Given the description of an element on the screen output the (x, y) to click on. 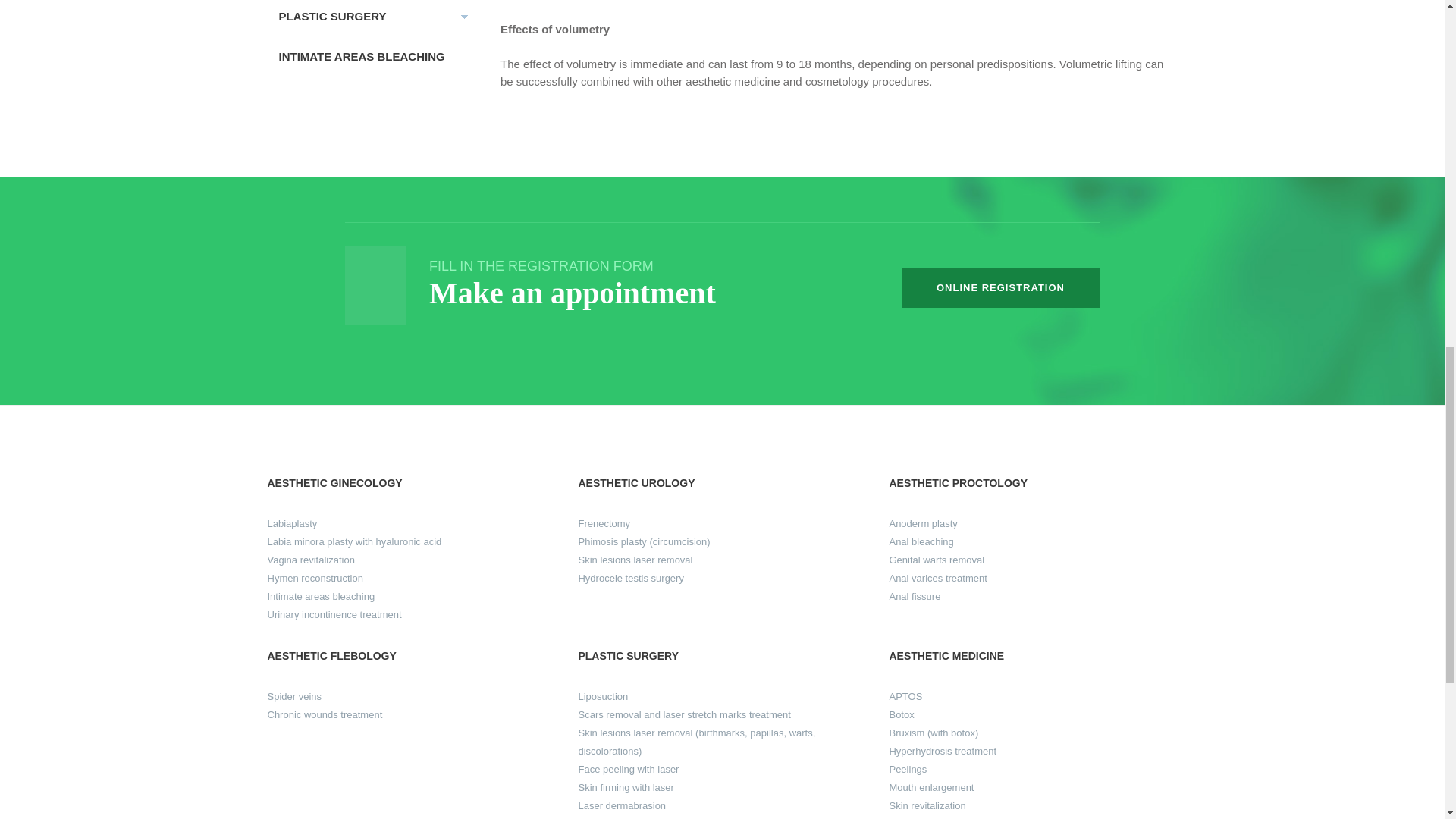
Online registration (1000, 287)
Anoderm plasty (922, 523)
Anal varices treatment (937, 577)
Genital warts removal (936, 559)
Frenectomy (604, 523)
Vagina revitalization (309, 559)
Labiaplasty (291, 523)
Urinary incontinence treatment (333, 614)
Labia minora plasty with hyaluronic acid (353, 541)
Anal fissure (914, 595)
Hydrocele testis surgery (630, 577)
Skin lesions laser removal (635, 559)
Hymen reconstruction (314, 577)
Intimate areas bleaching (320, 595)
Anal bleaching (920, 541)
